Given the description of an element on the screen output the (x, y) to click on. 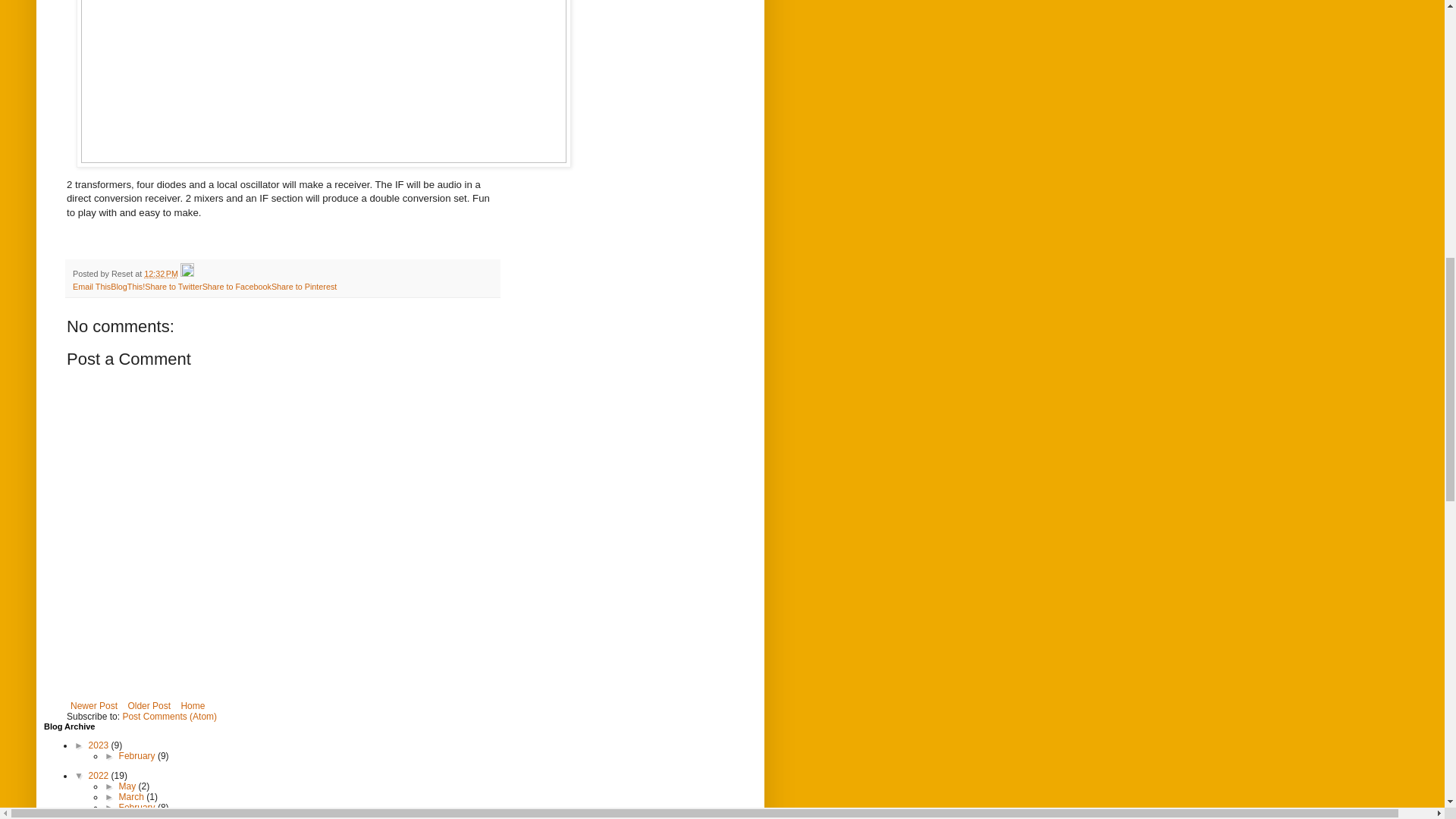
BlogThis! (127, 286)
Edit Post (186, 273)
February (138, 756)
Home (192, 705)
February (138, 807)
Email This (91, 286)
Share to Twitter (173, 286)
Share to Pinterest (303, 286)
Email This (91, 286)
Share to Twitter (173, 286)
Newer Post (93, 705)
Share to Facebook (236, 286)
March (133, 796)
permanent link (160, 273)
2022 (100, 775)
